Given the description of an element on the screen output the (x, y) to click on. 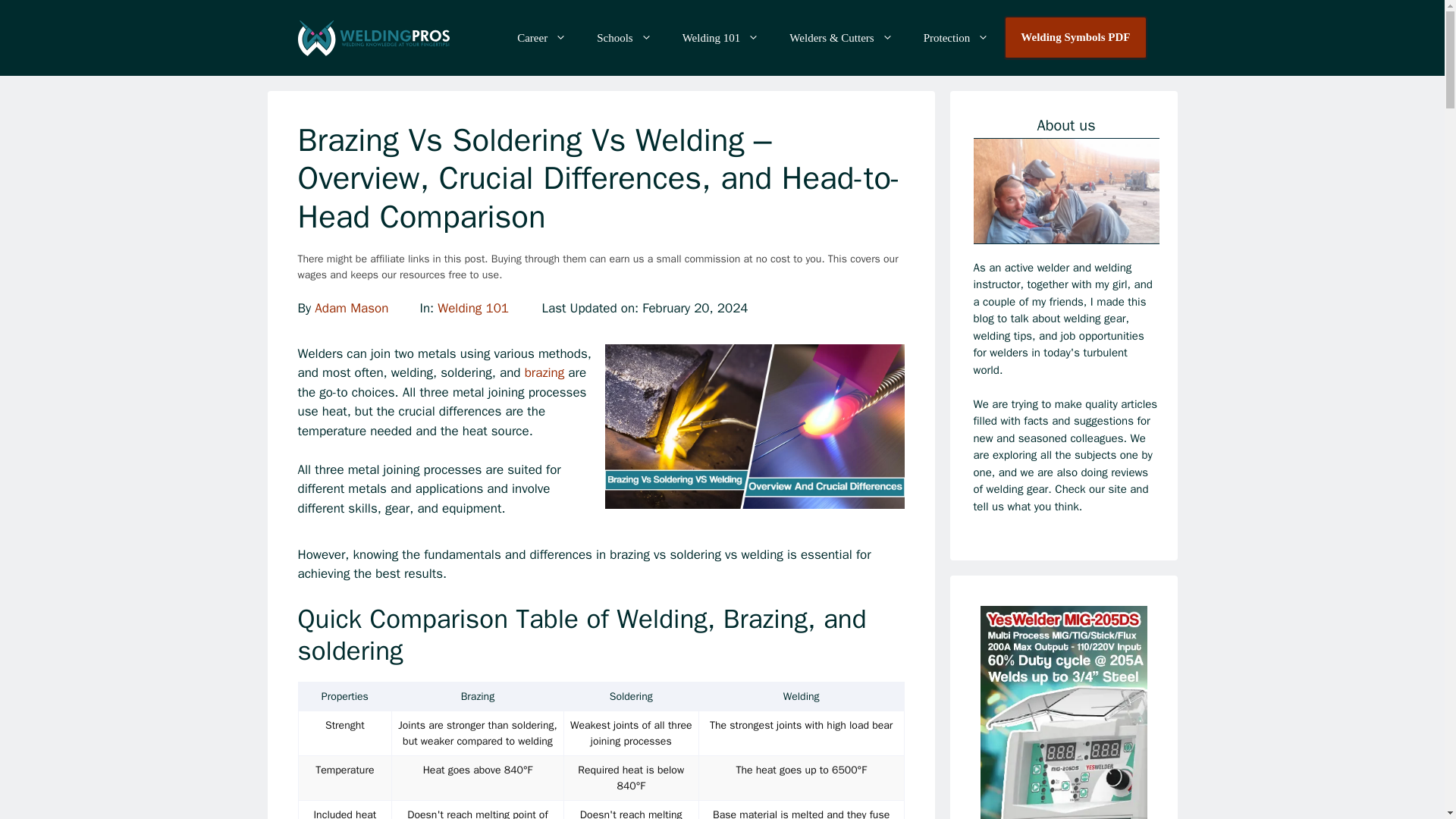
Welding Symbols PDF (1075, 37)
Welding 101 (473, 308)
Adam Mason (351, 308)
Protection (956, 37)
Welding 101 (720, 37)
Schools (623, 37)
Career (541, 37)
brazing (546, 372)
